Given the description of an element on the screen output the (x, y) to click on. 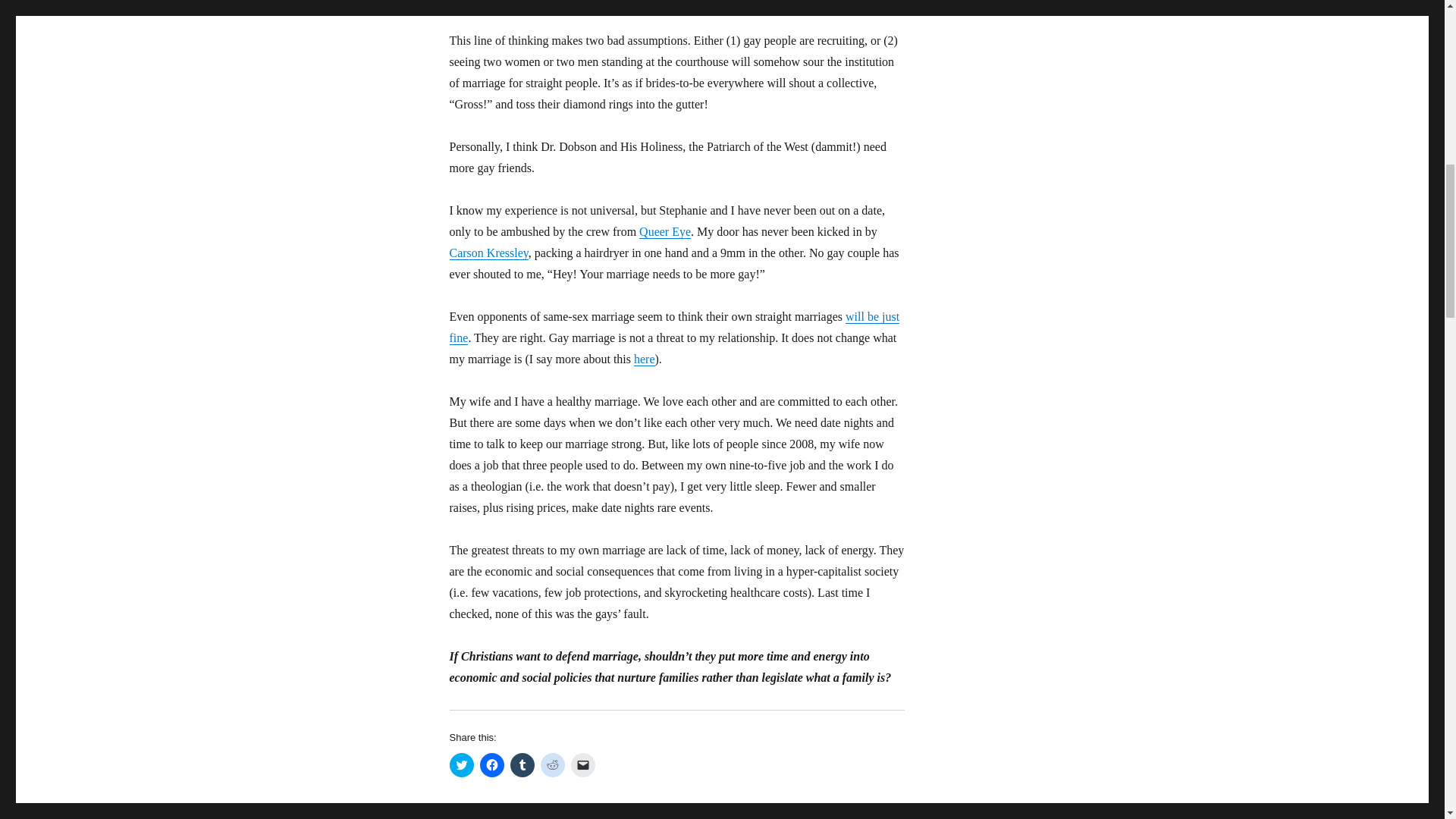
Click to share on Reddit (552, 764)
Click to share on Facebook (491, 764)
Click to share on Twitter (460, 764)
Click to email a link to a friend (582, 764)
here (644, 358)
will be just fine (673, 326)
Click to share on Tumblr (521, 764)
Queer Eye (664, 231)
Carson Kressley (487, 252)
